Given the description of an element on the screen output the (x, y) to click on. 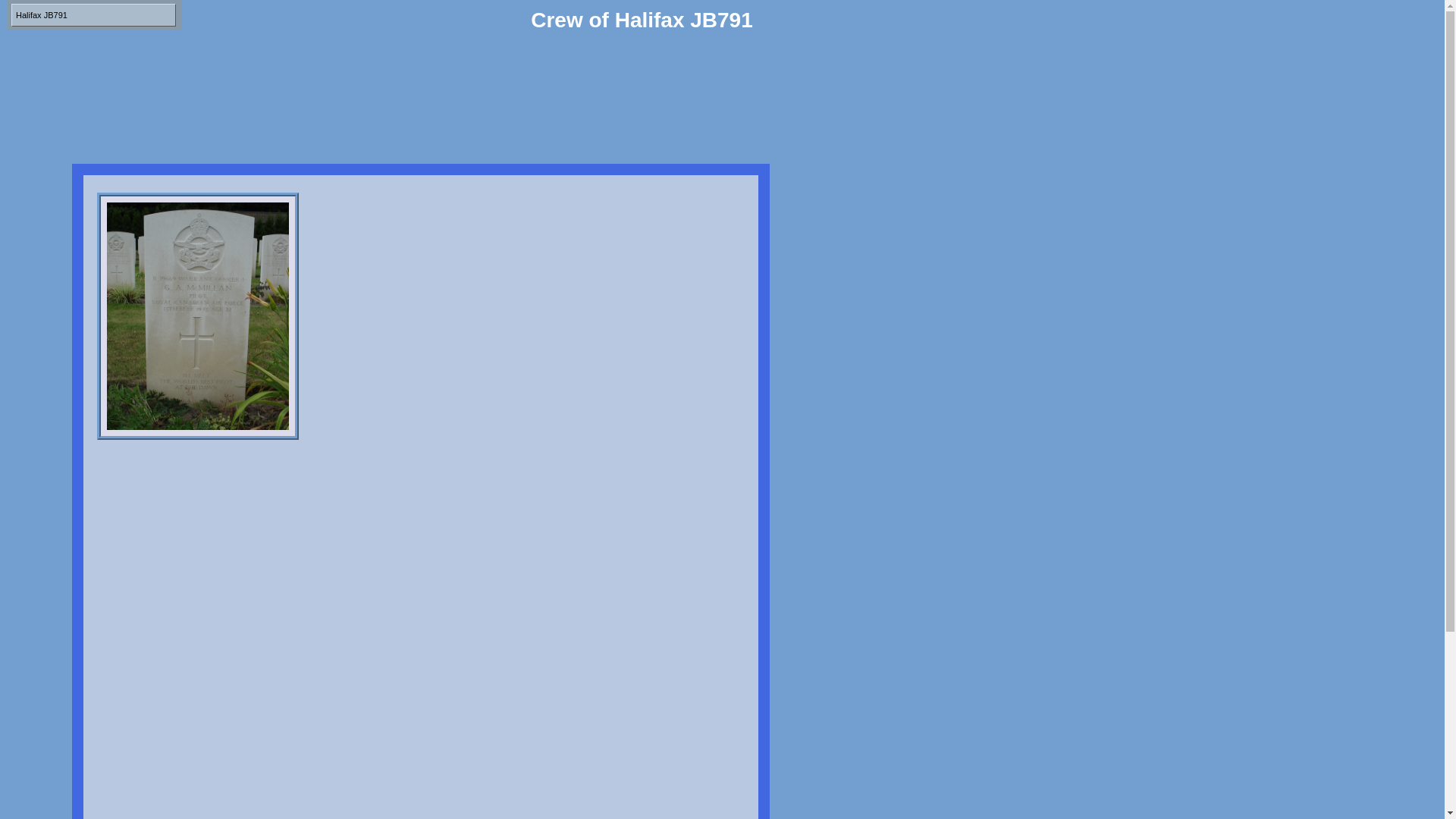
Halifax JB791 Element type: text (93, 14)
